Given the description of an element on the screen output the (x, y) to click on. 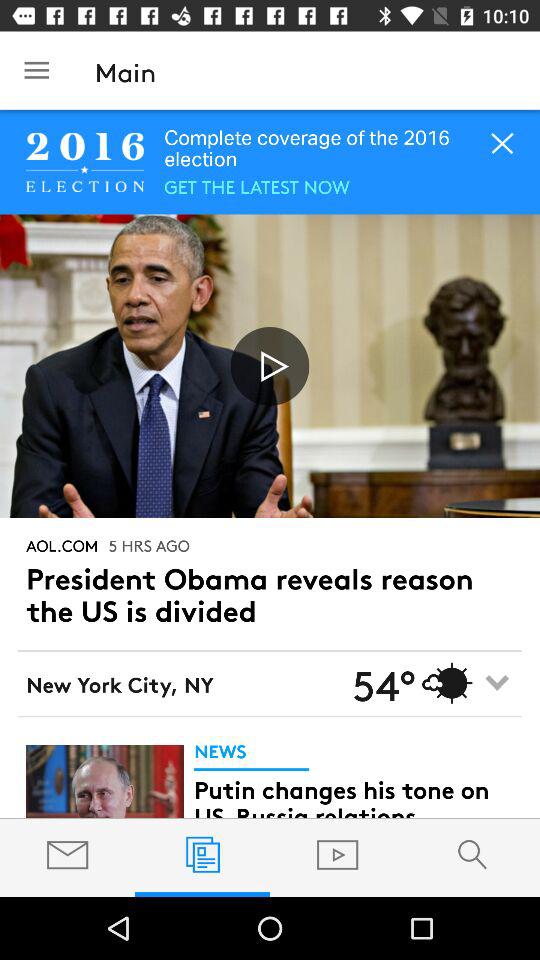
play button (269, 366)
